Given the description of an element on the screen output the (x, y) to click on. 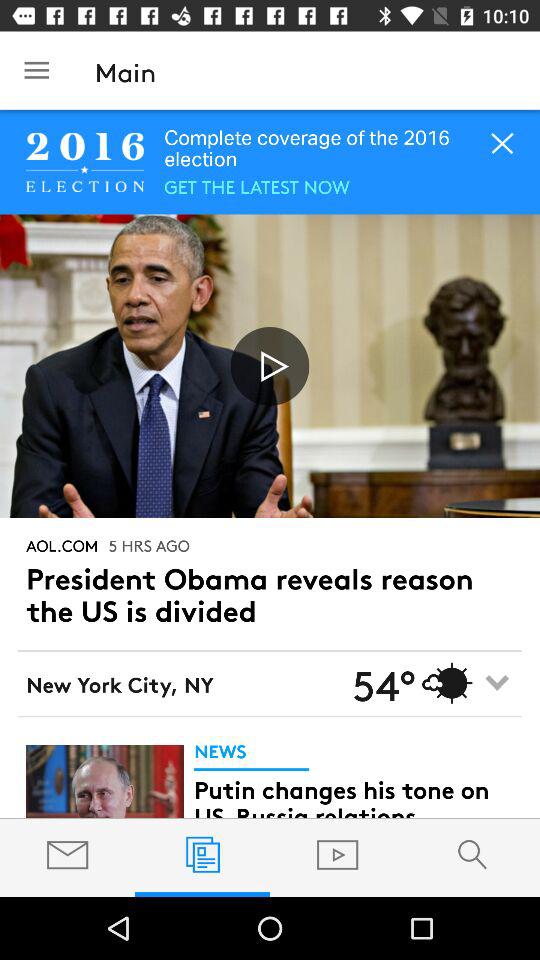
play button (269, 366)
